Given the description of an element on the screen output the (x, y) to click on. 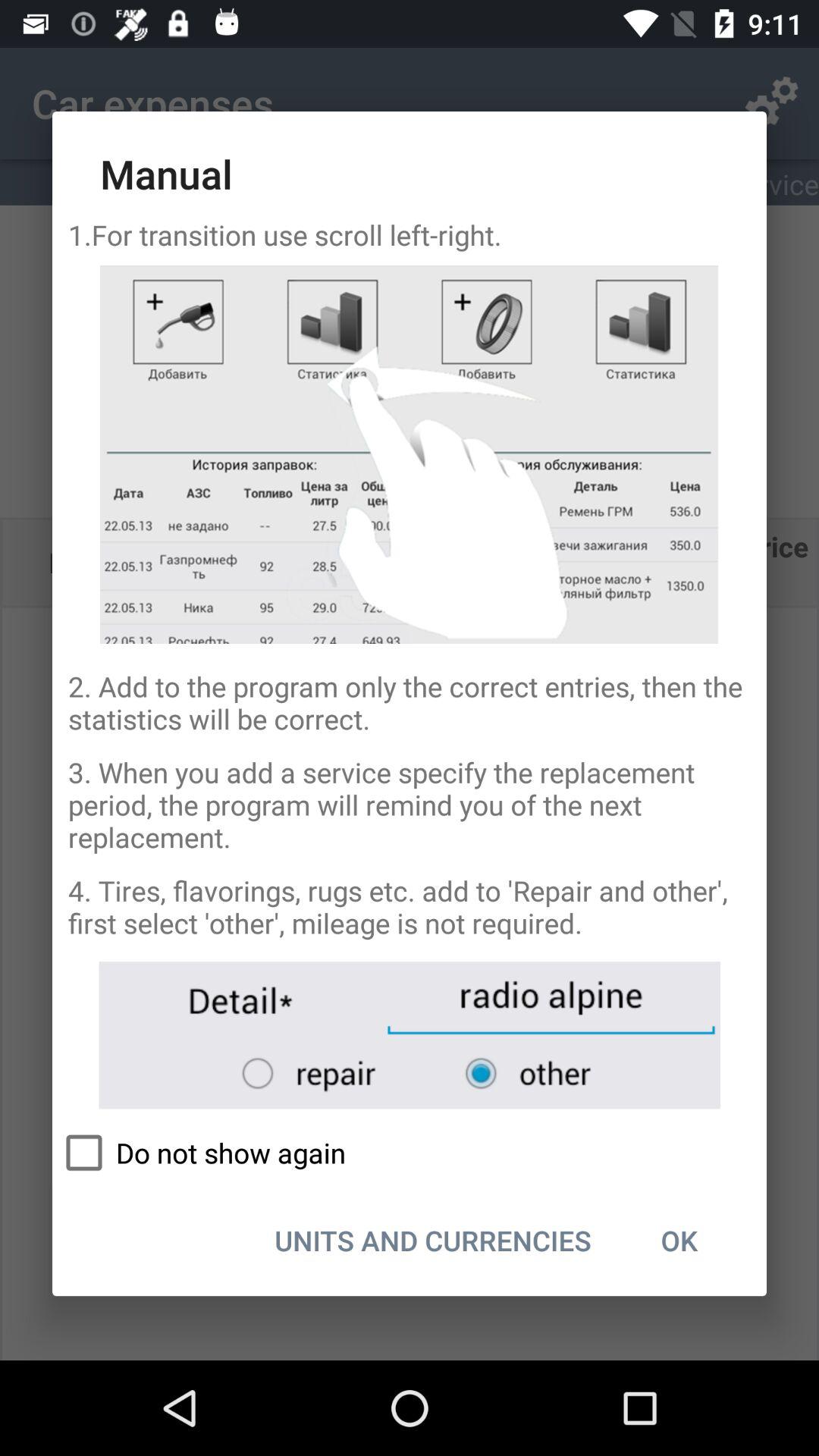
turn off item to the right of units and currencies item (678, 1240)
